Given the description of an element on the screen output the (x, y) to click on. 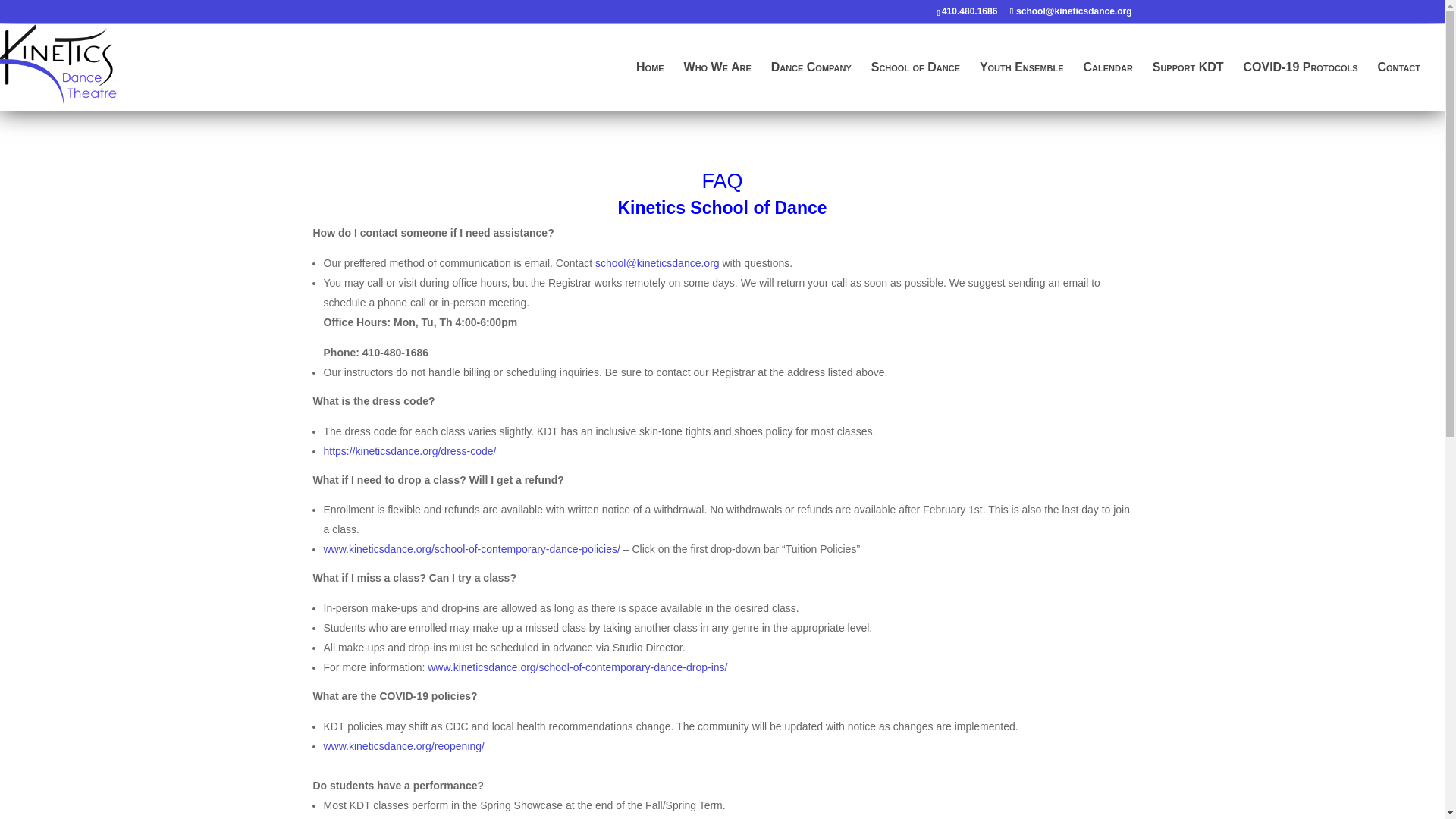
Who We Are (717, 86)
Contact (1399, 86)
Calendar (1107, 86)
Youth Ensemble (1021, 86)
School of Dance (914, 86)
Dance Company (811, 86)
Support KDT (1188, 86)
COVID-19 Protocols (1299, 86)
